Given the description of an element on the screen output the (x, y) to click on. 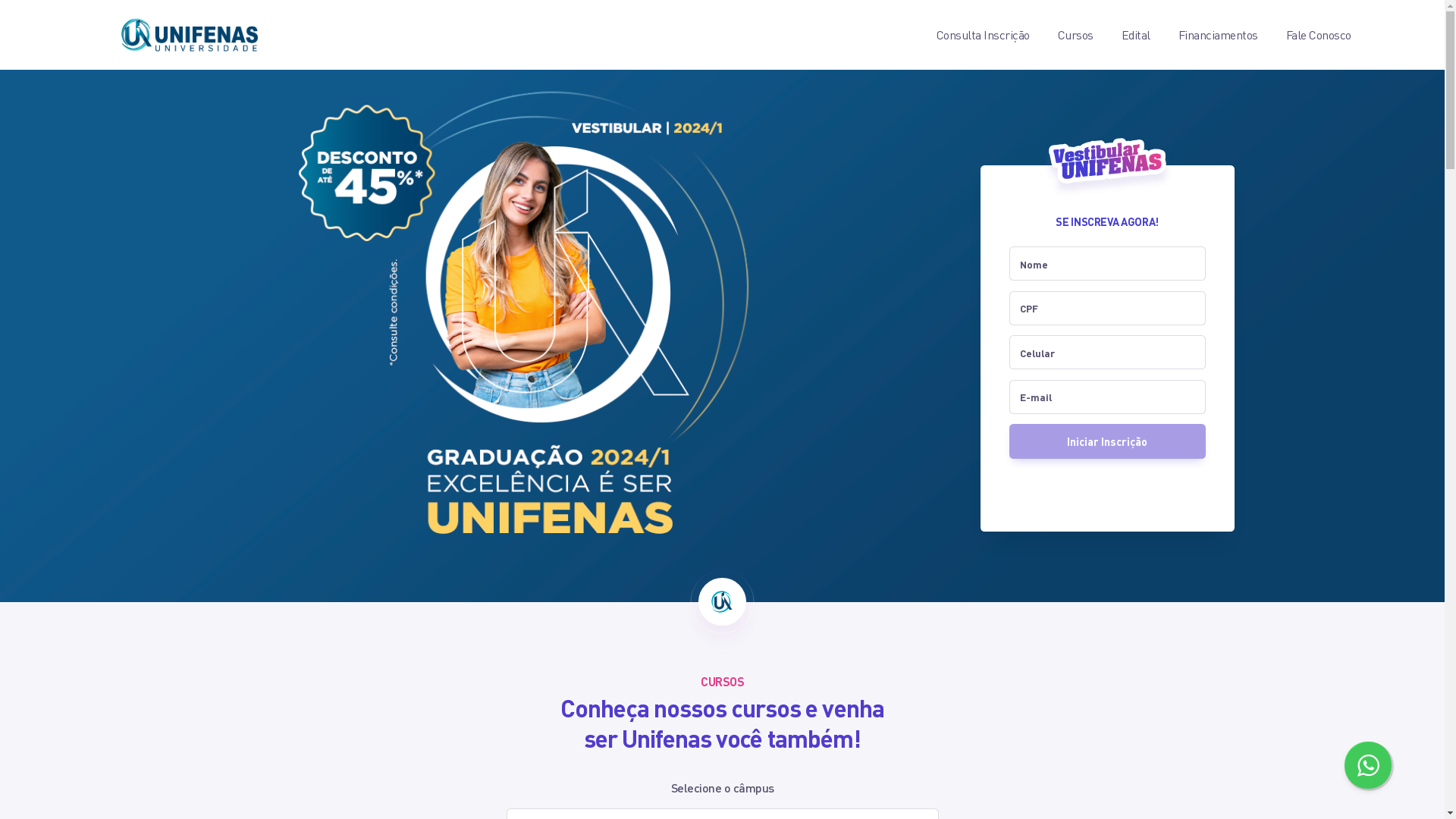
Fale Conosco Element type: text (1304, 34)
Edital Element type: text (1121, 34)
Financiamentos Element type: text (1204, 34)
Cursos Element type: text (1061, 34)
